Given the description of an element on the screen output the (x, y) to click on. 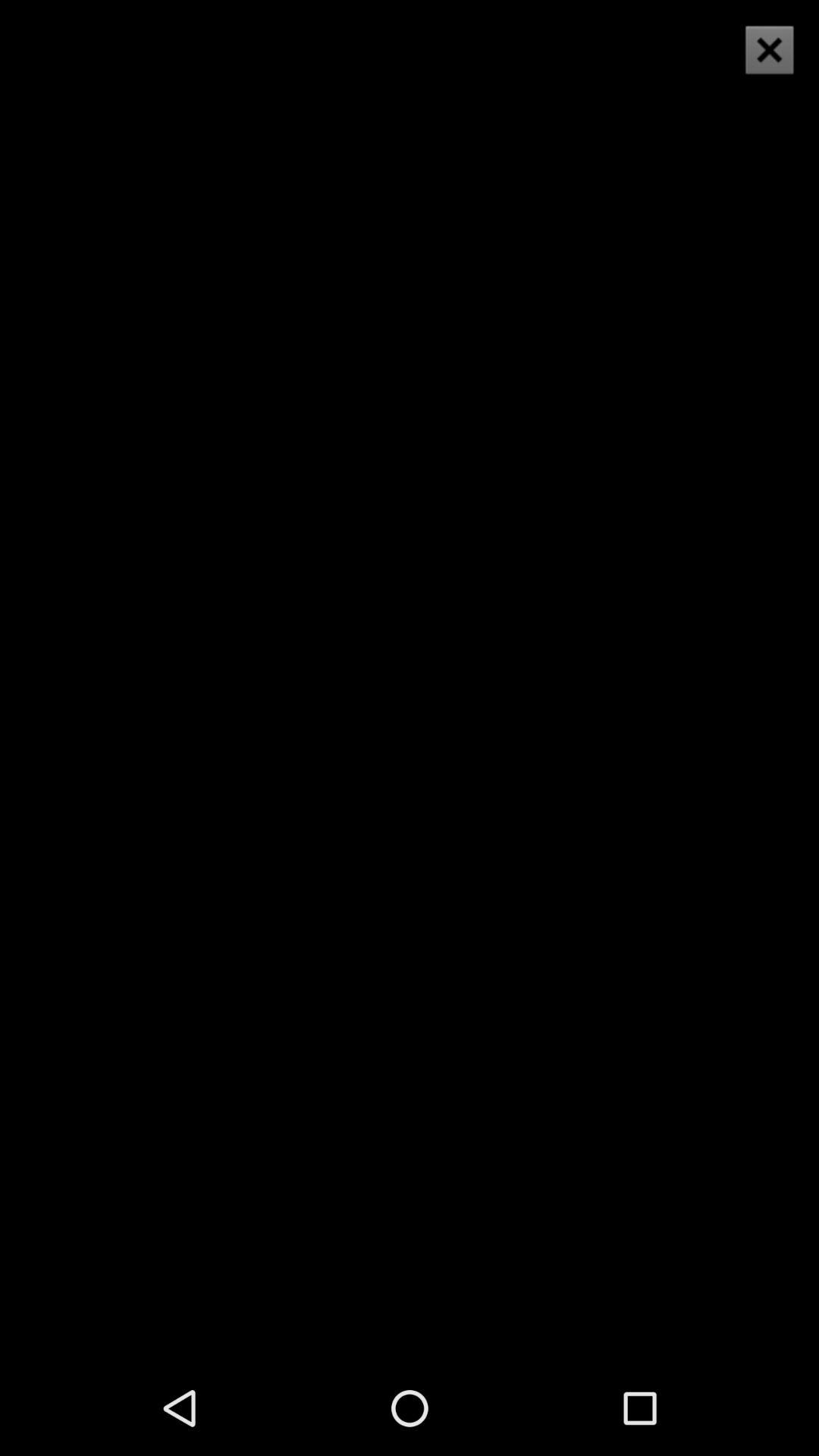
click icon at the top right corner (769, 49)
